Given the description of an element on the screen output the (x, y) to click on. 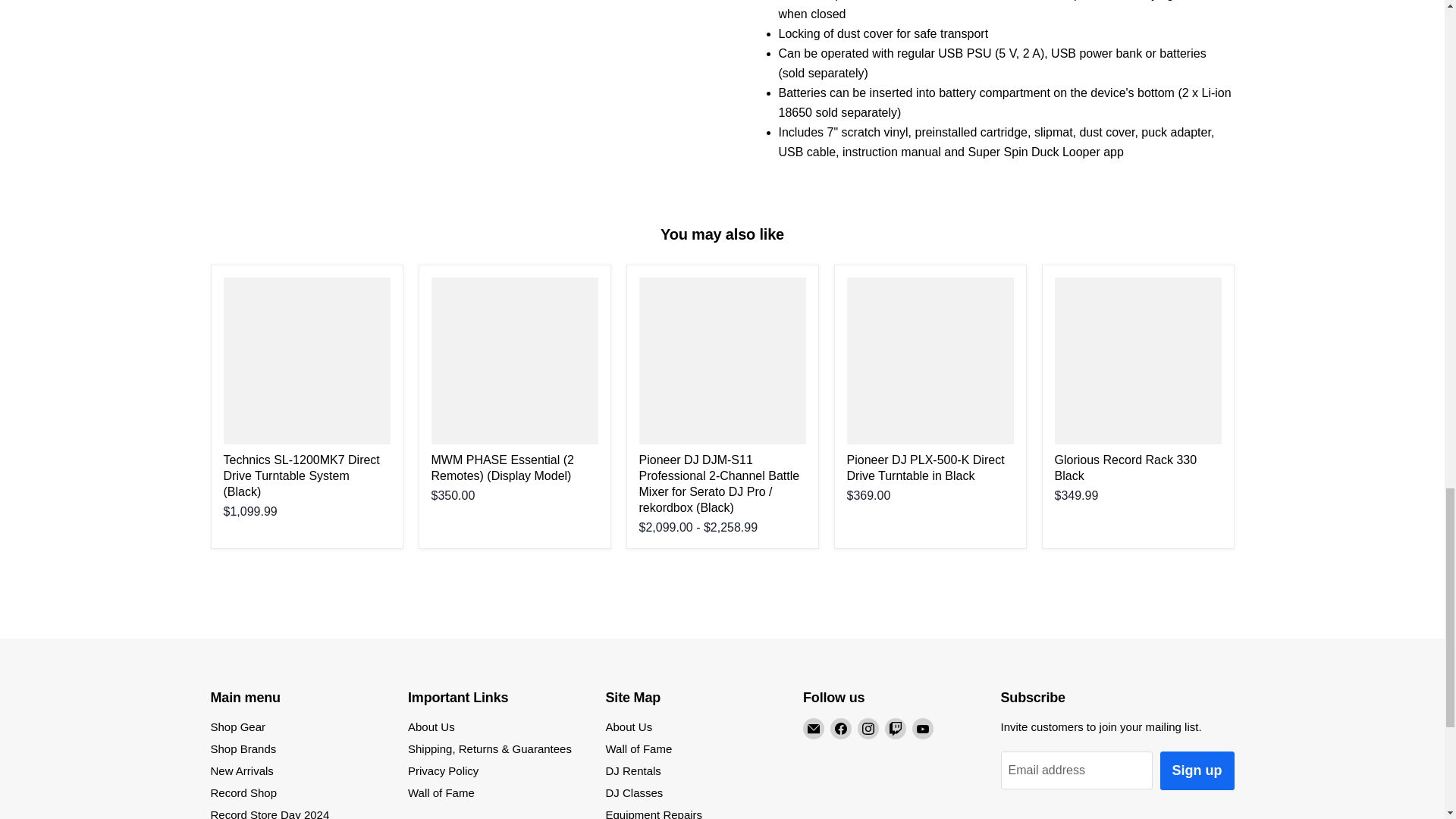
Email (813, 728)
YouTube (922, 728)
Facebook (840, 728)
Instagram (868, 728)
Twitch (895, 728)
